Given the description of an element on the screen output the (x, y) to click on. 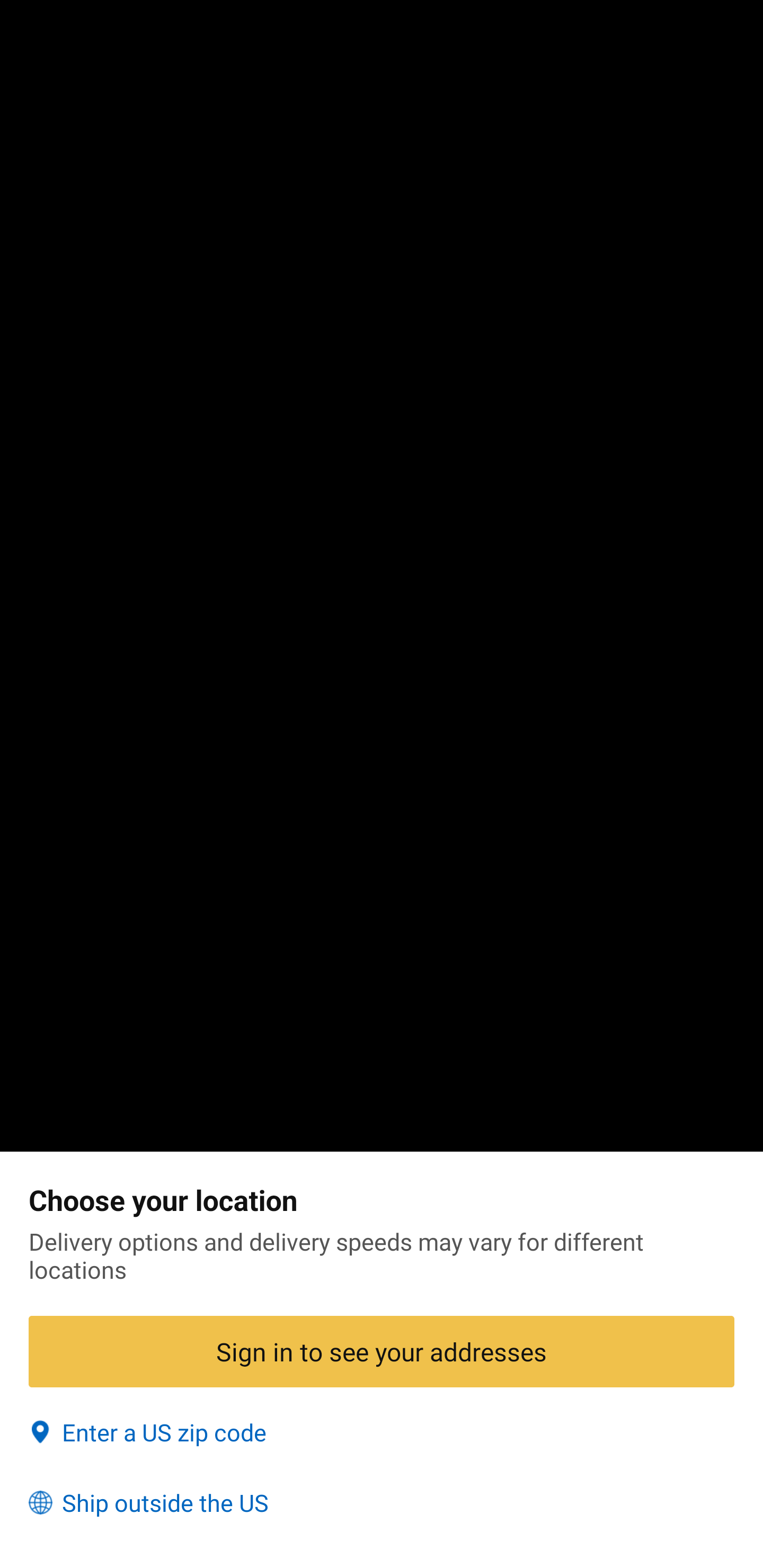
Sign in to see your addresses (381, 1351)
Enter a US zip code (381, 1432)
Ship outside the US (381, 1502)
